Given the description of an element on the screen output the (x, y) to click on. 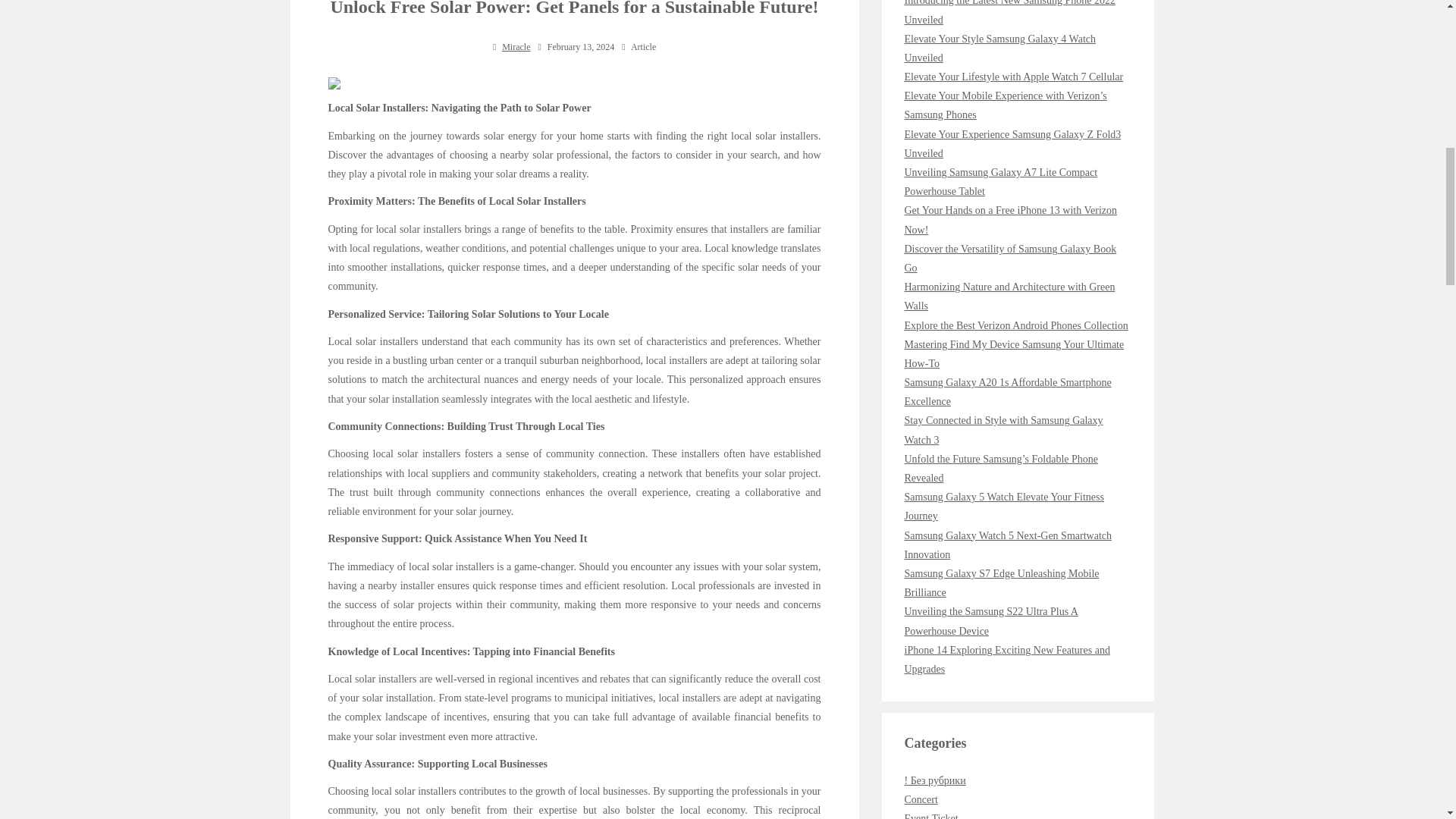
Posts by Miracle (515, 46)
Miracle (515, 46)
